Given the description of an element on the screen output the (x, y) to click on. 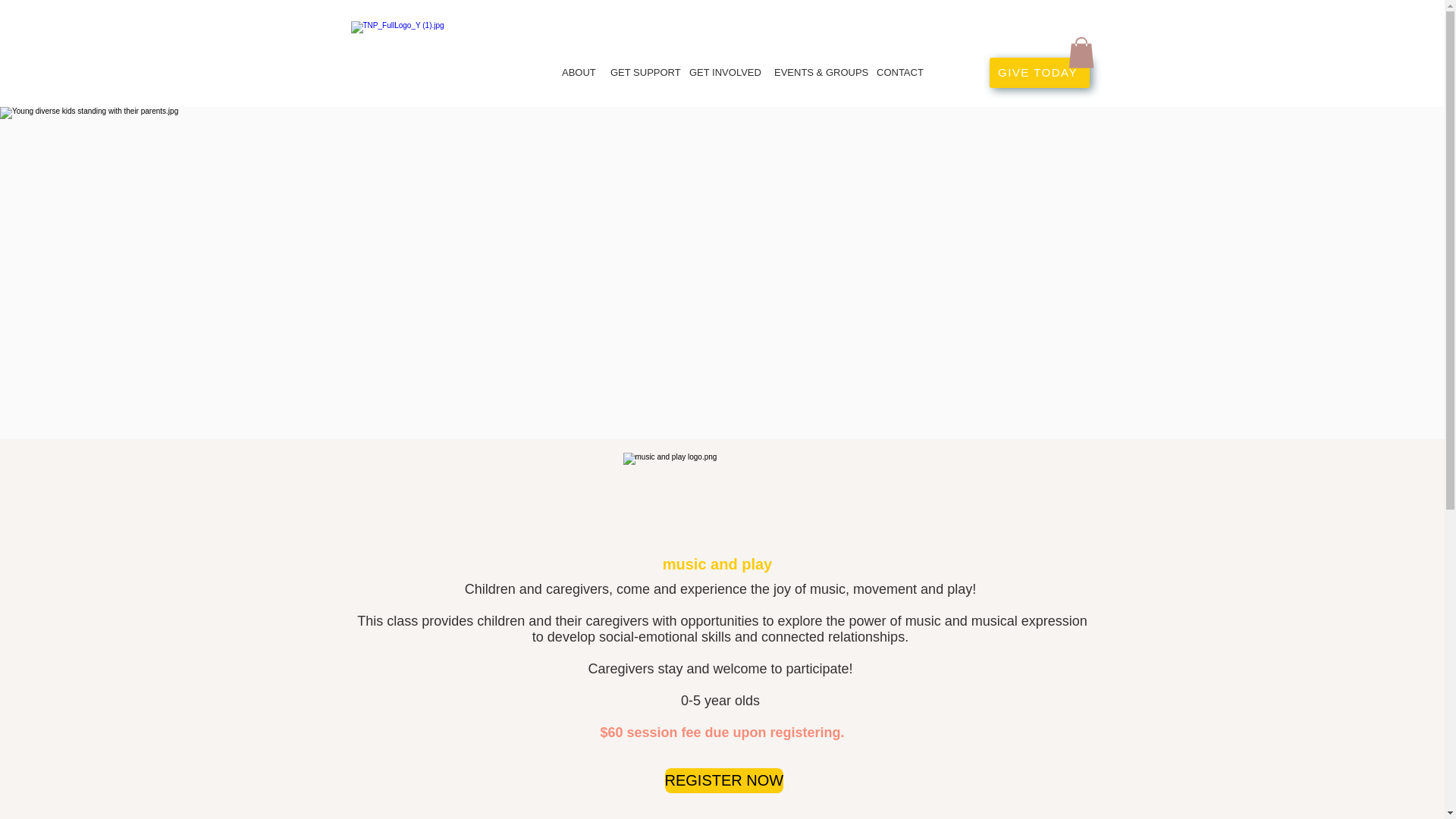
REGISTER NOW (723, 780)
ABOUT (578, 72)
GET SUPPORT (641, 72)
GET INVOLVED (724, 72)
GIVE TODAY (1038, 72)
CONTACT (899, 72)
